Given the description of an element on the screen output the (x, y) to click on. 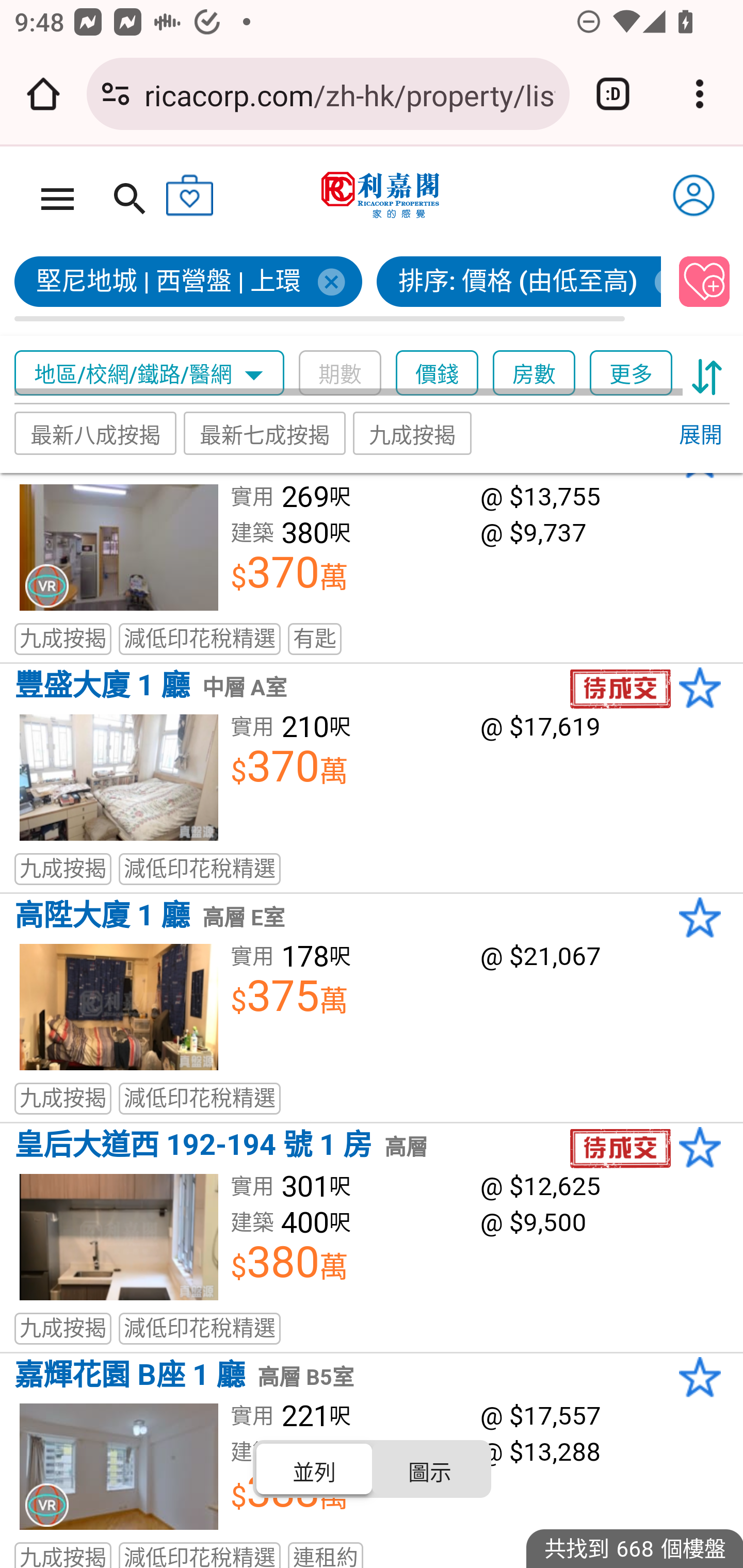
Open the home page (43, 93)
Connection is secure (115, 93)
Switch or close tabs (612, 93)
Customize and control Google Chrome (699, 93)
並列 (314, 1469)
圖示 (429, 1469)
